Given the description of an element on the screen output the (x, y) to click on. 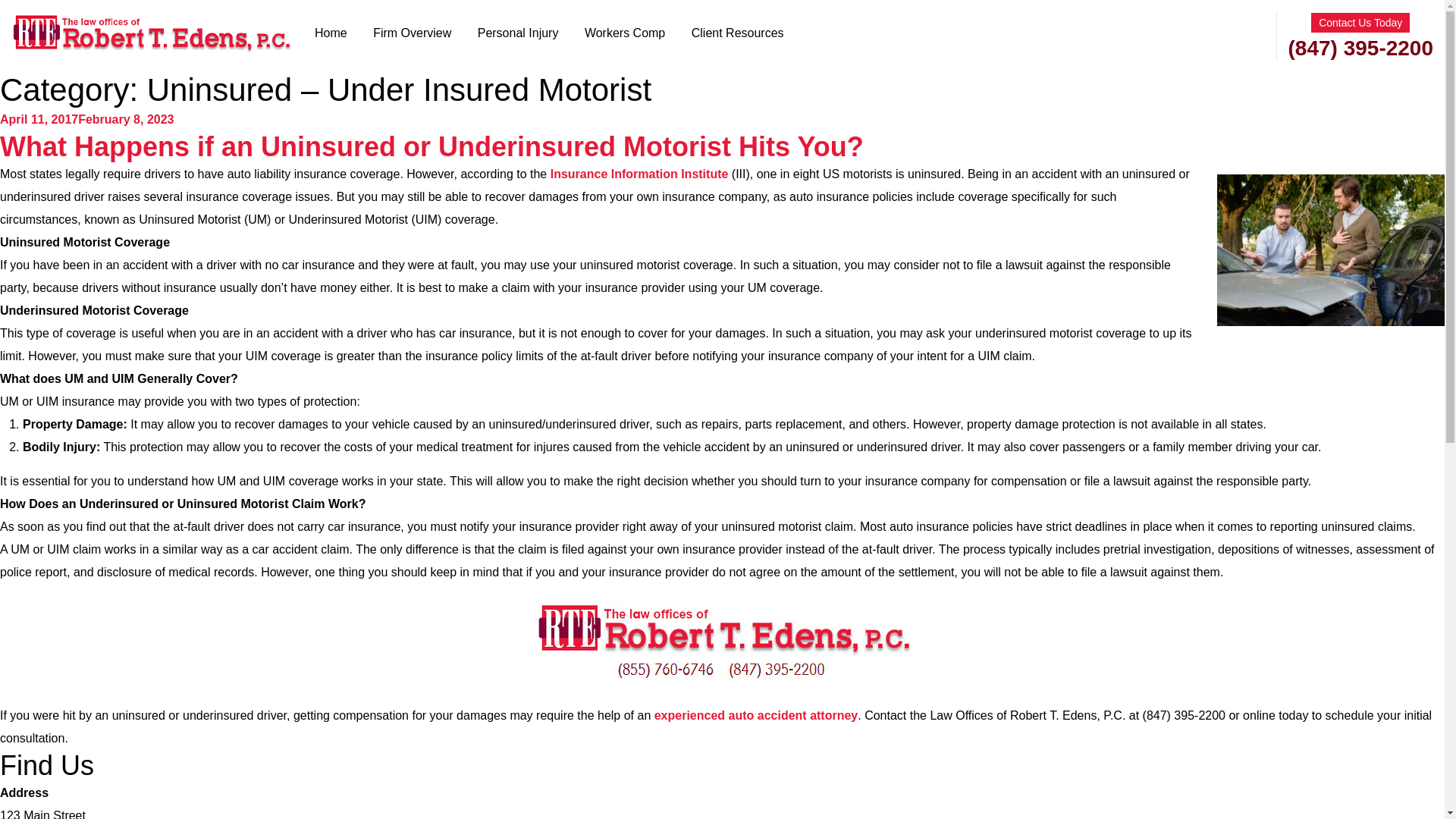
Home (331, 33)
Firm Overview (411, 33)
Insurance Information Institute (639, 173)
experienced auto accident attorney (756, 715)
April 11, 2017February 8, 2023 (86, 119)
Client Resources (738, 33)
Personal Injury (518, 33)
Workers Comp (624, 33)
Contact Us Today (1360, 22)
